Given the description of an element on the screen output the (x, y) to click on. 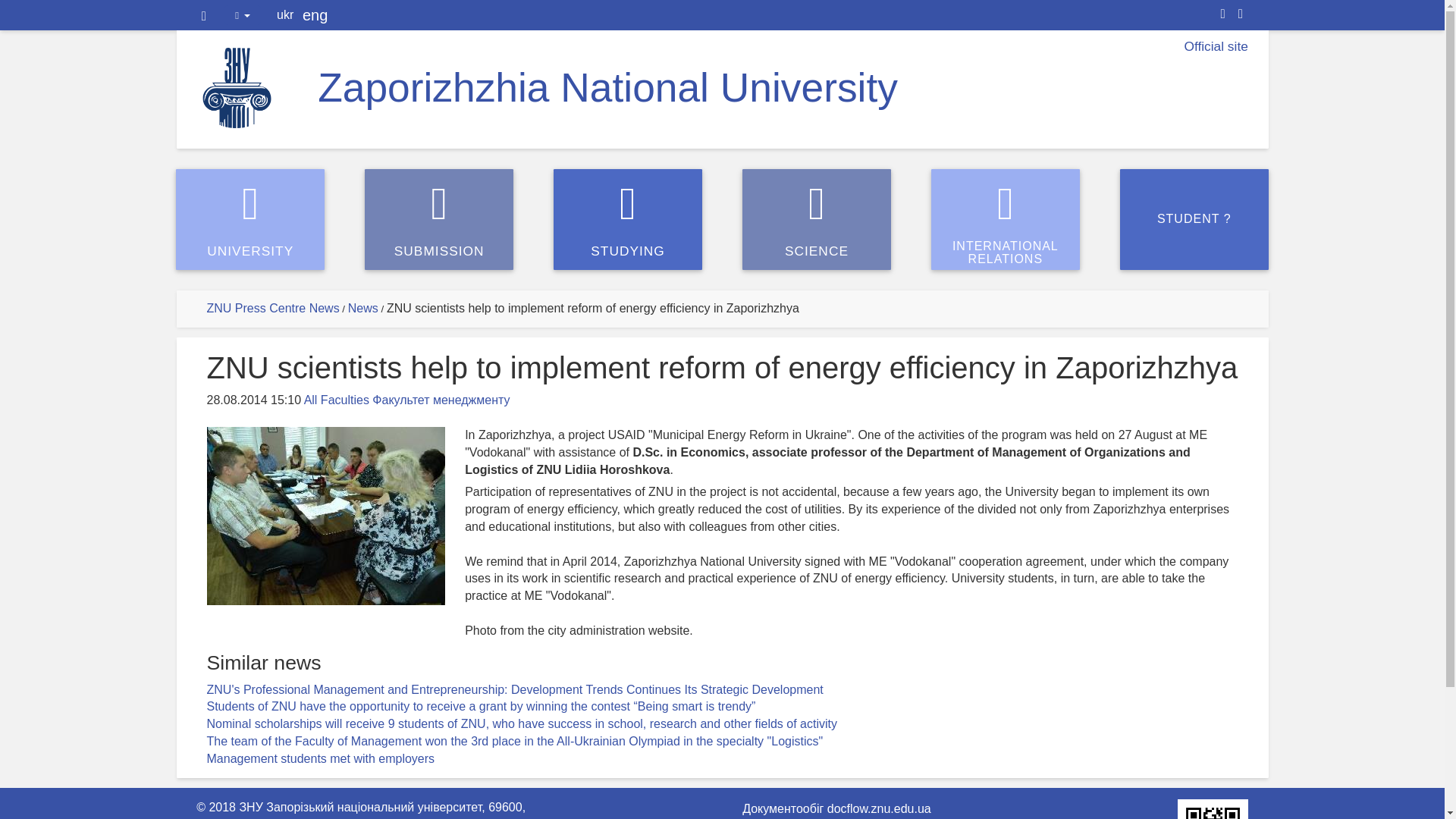
Official site (1215, 46)
STUDENT ? (1193, 219)
docflow.znu.edu.ua (879, 809)
ZNU Press Centre News (272, 308)
Zaporizhzhia National University (607, 87)
Site map (1222, 13)
SCIENCE (1005, 219)
Faculties (816, 219)
Print (344, 399)
ukr (1241, 13)
News (285, 14)
SUBMISSION (362, 308)
STUDYING (439, 219)
